Given the description of an element on the screen output the (x, y) to click on. 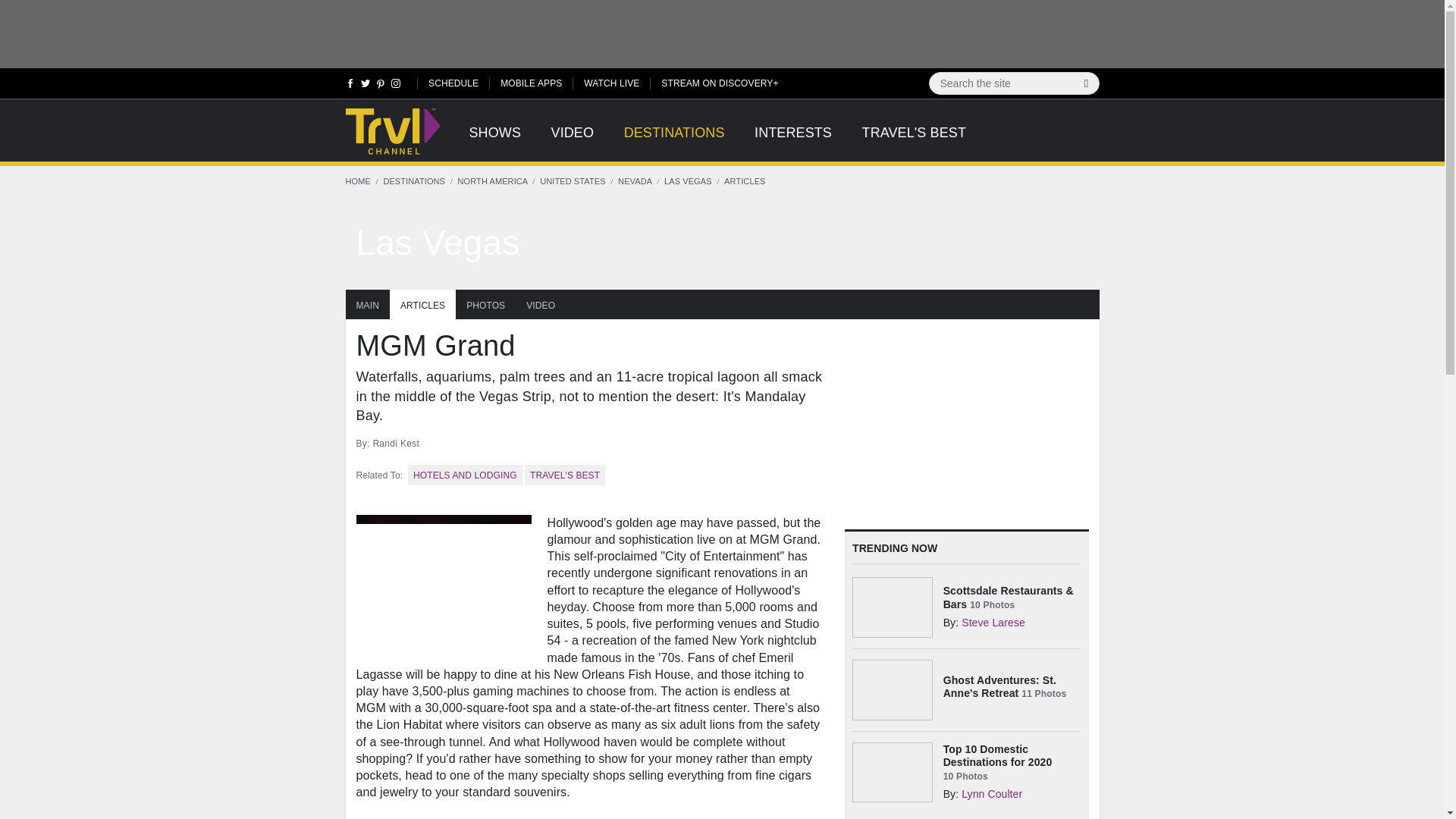
Follow us on Facebook (350, 86)
Follow us on Twitter (365, 86)
MOBILE APPS (531, 81)
Follow us on Pinterest (380, 86)
WATCH LIVE (611, 81)
John Wang (722, 241)
SHOWS (494, 140)
SCHEDULE (453, 81)
Follow us on Instagram (394, 86)
